Given the description of an element on the screen output the (x, y) to click on. 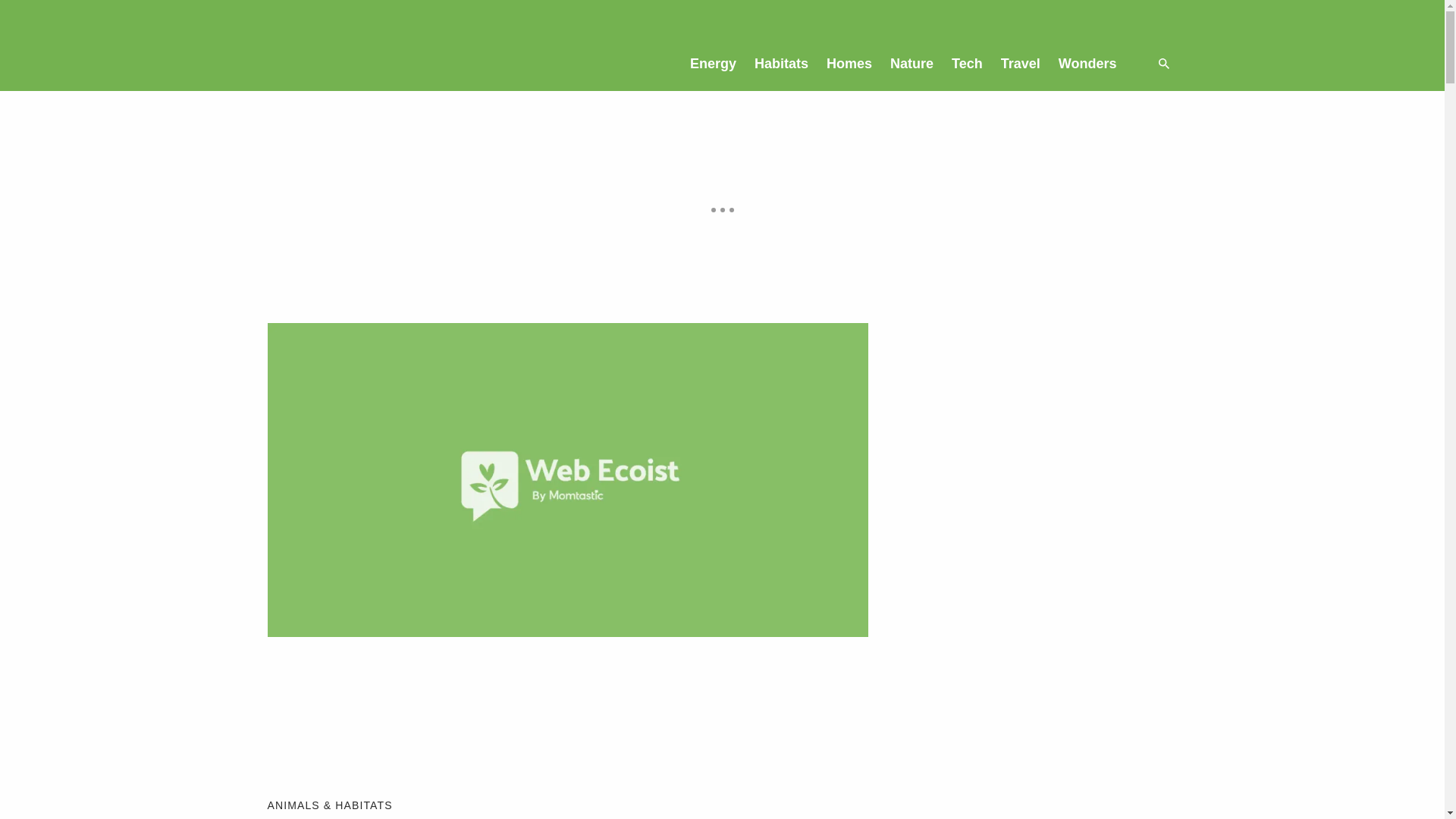
Travel (1020, 63)
Habitats (780, 63)
Wonders (1087, 63)
Homes (848, 63)
Nature (911, 63)
Energy (713, 63)
Tech (966, 63)
